Given the description of an element on the screen output the (x, y) to click on. 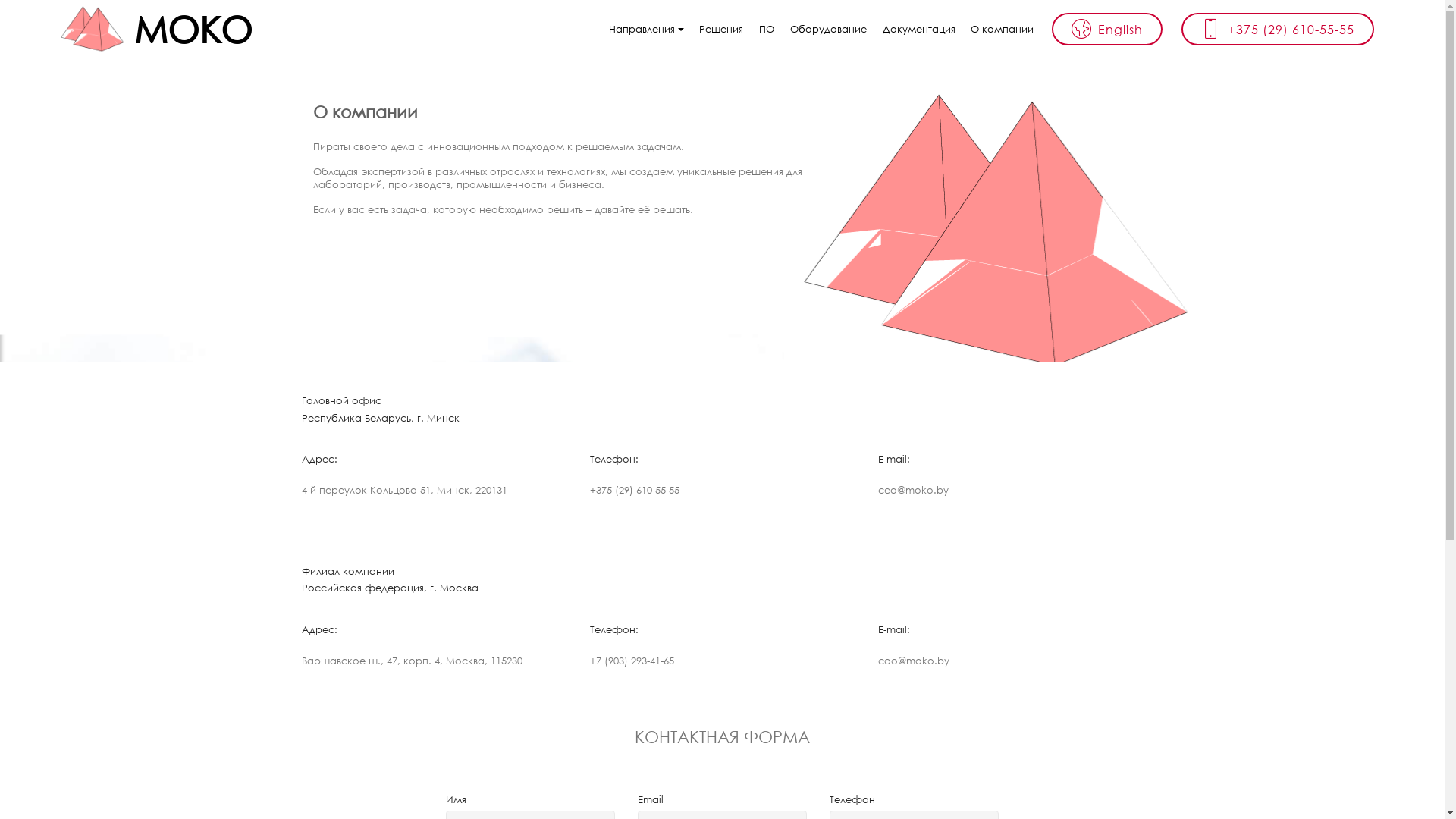
English Element type: text (1106, 28)
+375 (29) 610-55-55 Element type: text (1277, 28)
MOKO Element type: text (205, 28)
